Given the description of an element on the screen output the (x, y) to click on. 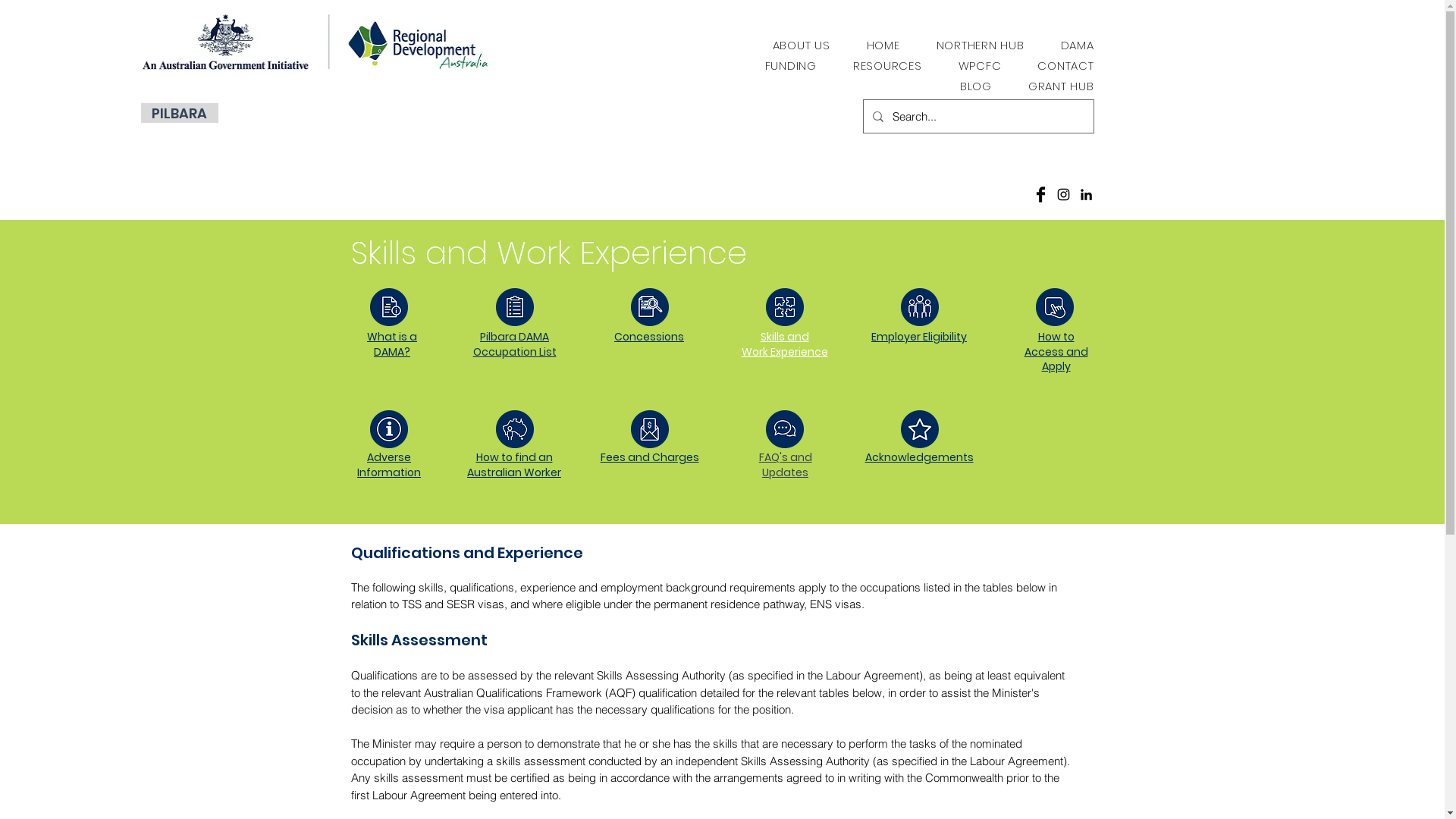
Skills and
Work Experience Element type: text (784, 344)
What is a DAMA? Element type: text (392, 344)
Acknowledgements Element type: text (918, 456)
ABOUT US Element type: text (800, 44)
Concessions Element type: text (649, 336)
FAQ's and Updates Element type: text (784, 464)
BLOG Element type: text (975, 85)
GRANT HUB Element type: text (1061, 85)
CONTACT Element type: text (1065, 65)
HOME Element type: text (882, 44)
Adverse Information Element type: text (388, 464)
DAMA Element type: text (1076, 44)
NORTHERN HUB Element type: text (979, 44)
How to find an Australian Worker Element type: text (514, 464)
Pilbara DAMA Occupation List Element type: text (514, 344)
WPCFC Element type: text (979, 65)
How to Access and Apply Element type: text (1055, 351)
Fees and Charges Element type: text (649, 456)
FUNDING Element type: text (789, 65)
Employer Eligibility Element type: text (918, 336)
